Given the description of an element on the screen output the (x, y) to click on. 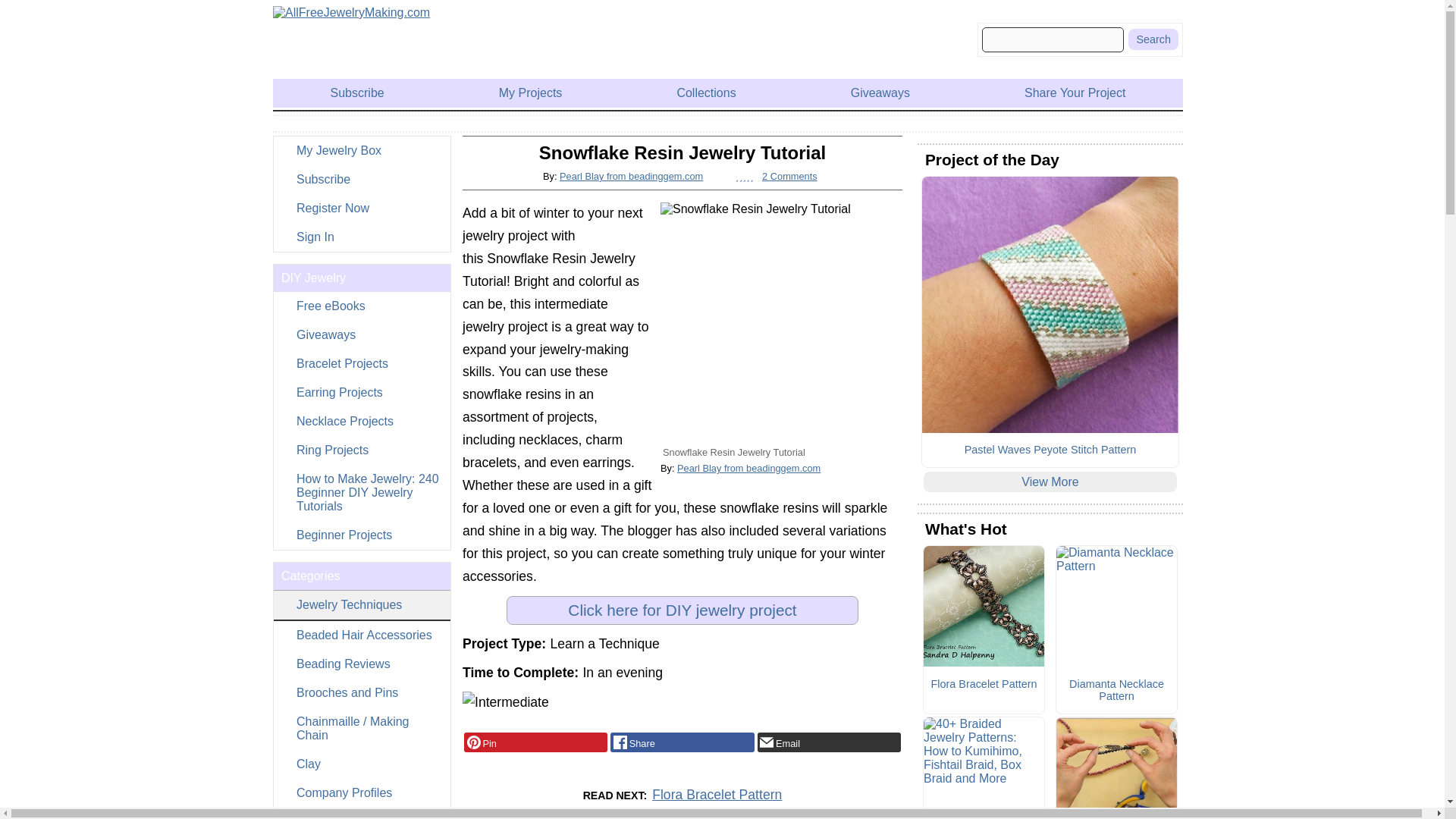
Sign In (361, 236)
Register Now (361, 208)
My Jewelry Box (361, 150)
Snowflake Resin Jewelry Tutorial (781, 323)
Facebook (682, 742)
Email (829, 742)
Subscribe (361, 179)
Search (1152, 38)
